Given the description of an element on the screen output the (x, y) to click on. 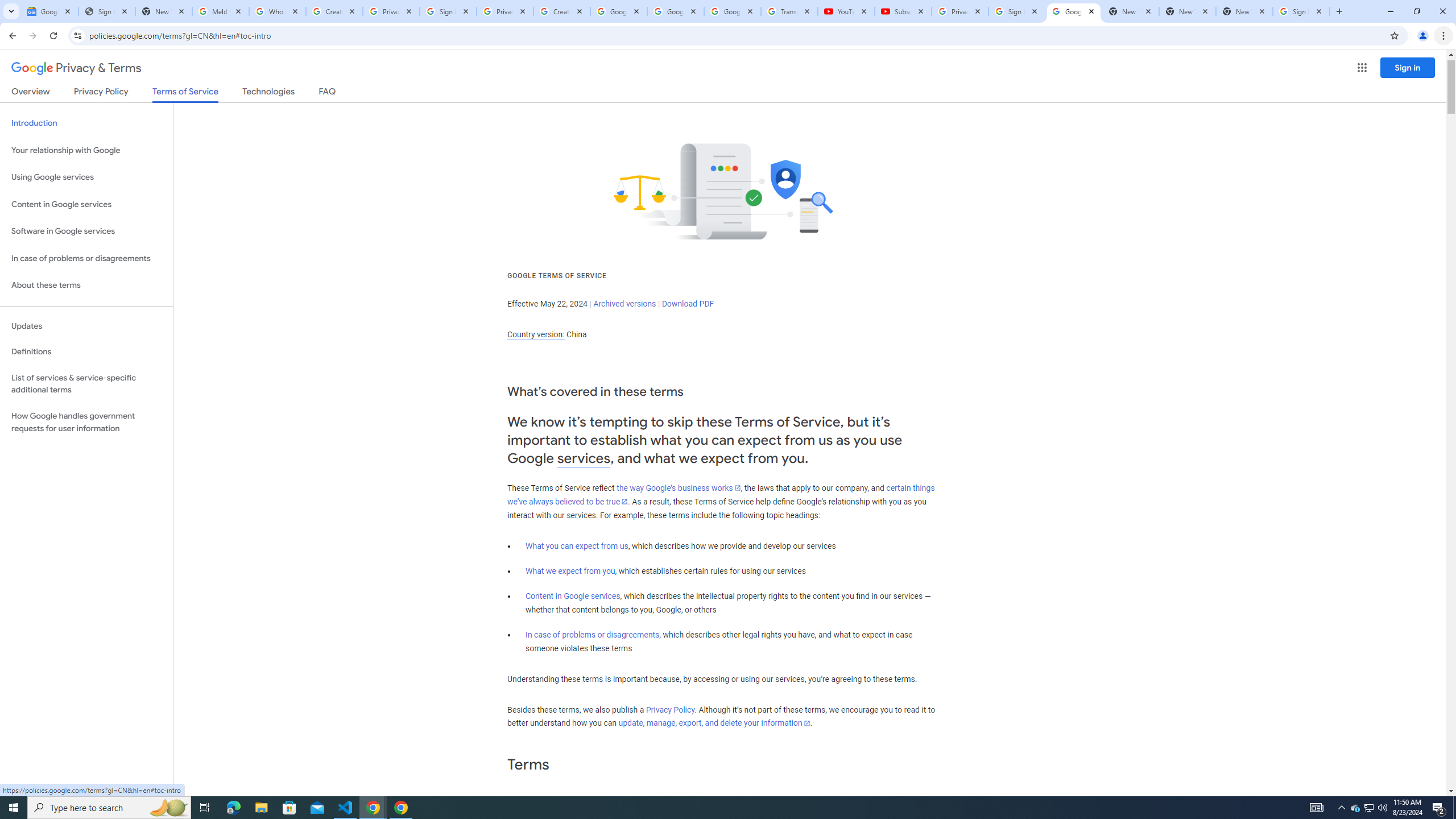
Sign in - Google Accounts (1015, 11)
Who is my administrator? - Google Account Help (277, 11)
Subscriptions - YouTube (902, 11)
